Given the description of an element on the screen output the (x, y) to click on. 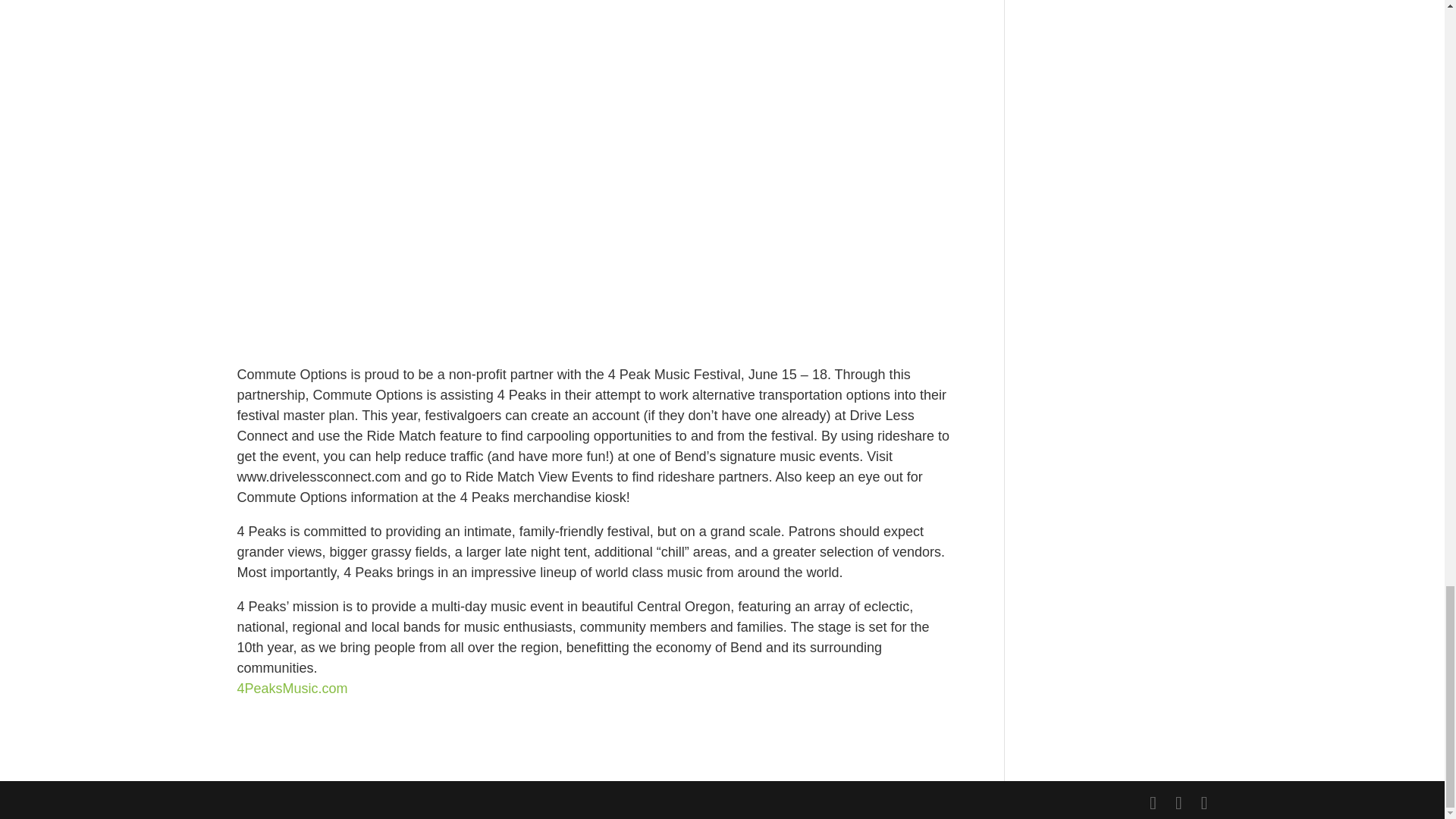
4PeaksMusic.com (291, 688)
